Given the description of an element on the screen output the (x, y) to click on. 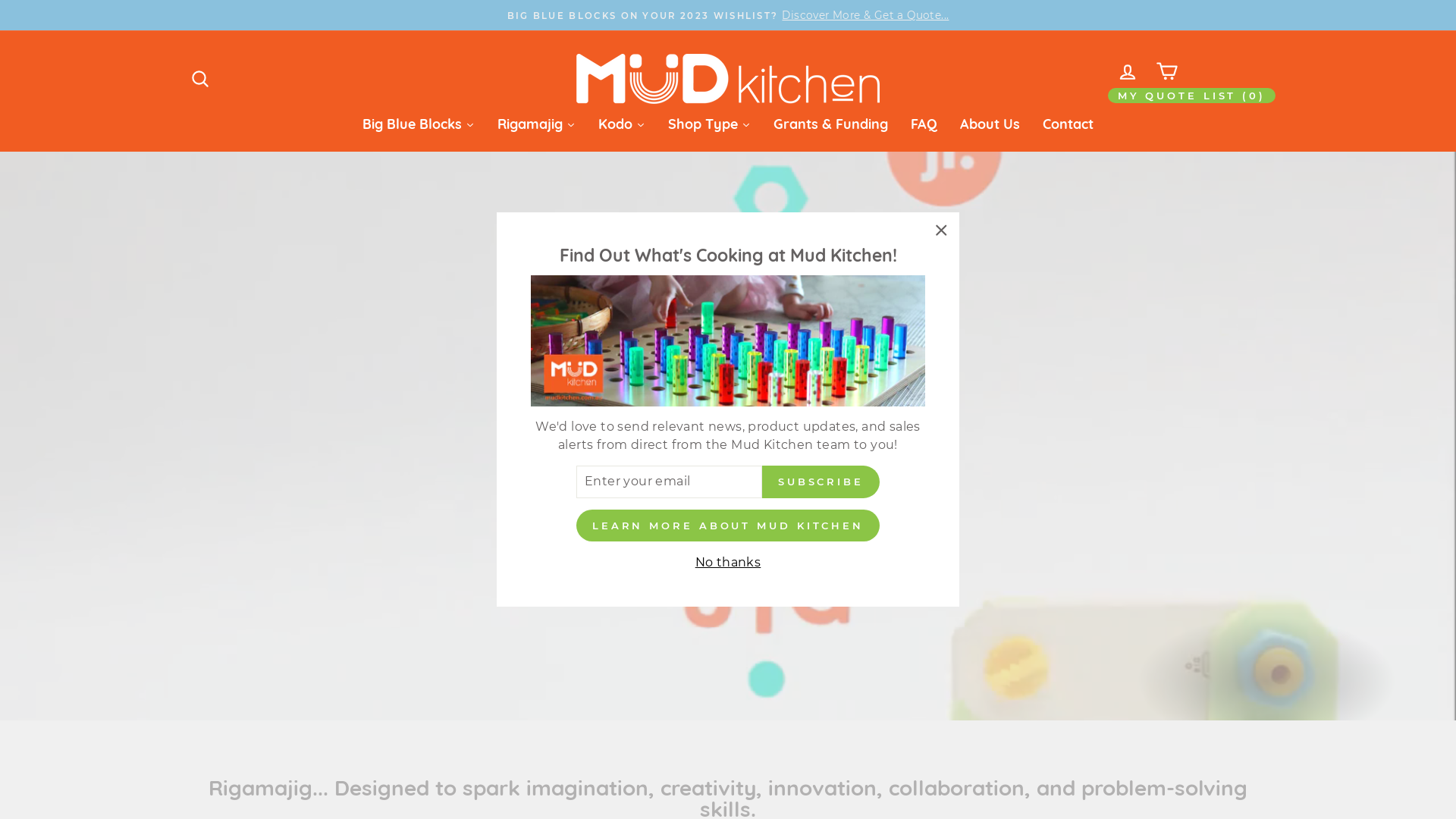
MY QUOTE LIST (0) Element type: text (1191, 95)
FAQ Element type: text (923, 123)
Kodo Element type: text (621, 123)
Rigamajig Element type: text (536, 123)
LEARN MORE ABOUT MUD KITCHEN Element type: text (727, 525)
Log in Element type: text (1127, 71)
Search Element type: text (199, 78)
Shop Type Element type: text (709, 123)
Skip to content Element type: text (0, 0)
Shopping Cart Element type: text (1166, 71)
Big Blue Blocks Element type: text (418, 123)
SUBSCRIBE Element type: text (820, 481)
Grants & Funding Element type: text (830, 123)
No thanks Element type: text (727, 562)
Contact Element type: text (1067, 123)
About Us Element type: text (989, 123)
"Close (esc)" Element type: text (940, 230)
